Given the description of an element on the screen output the (x, y) to click on. 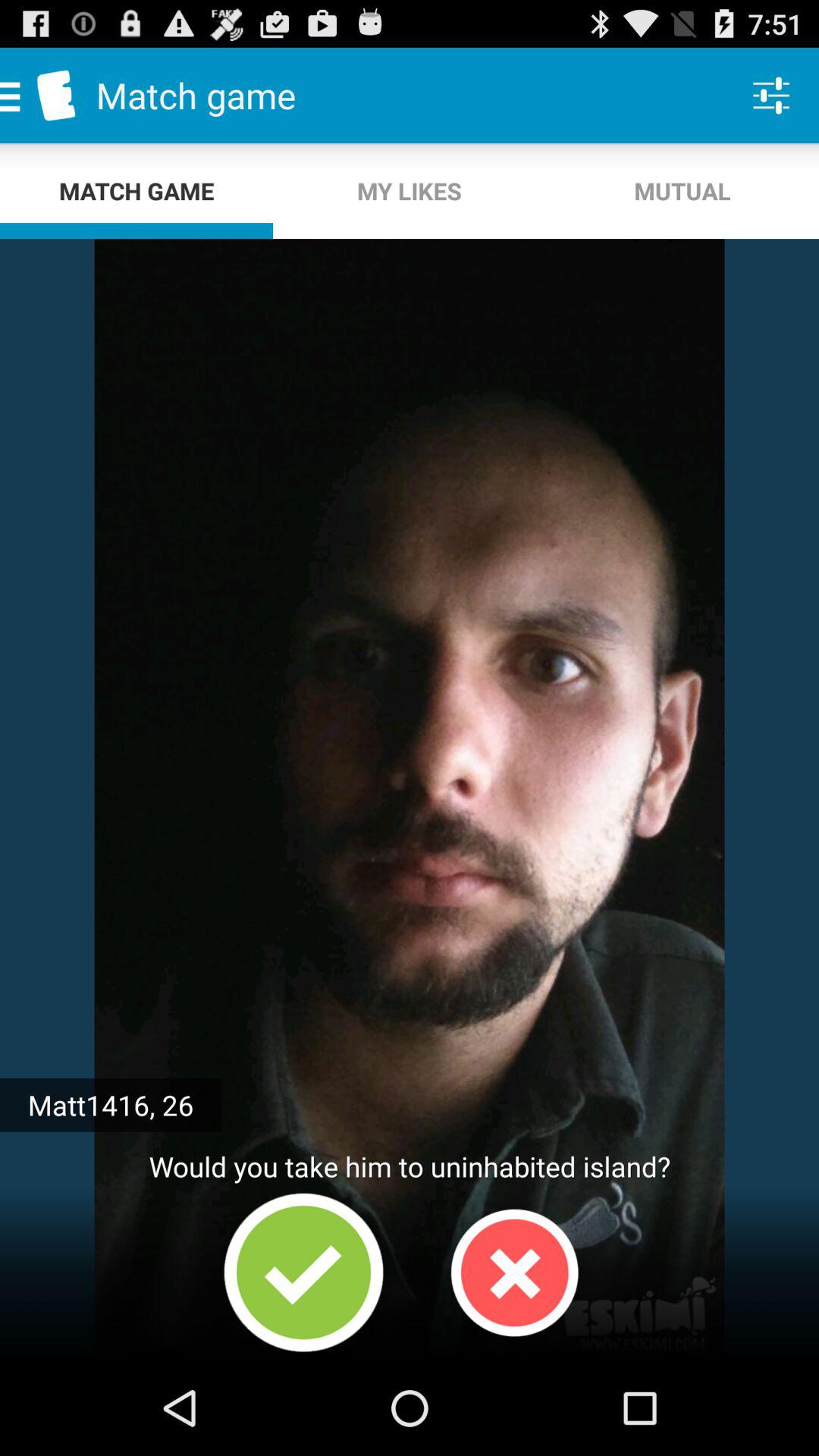
click the icon to the right of match game (409, 190)
